Given the description of an element on the screen output the (x, y) to click on. 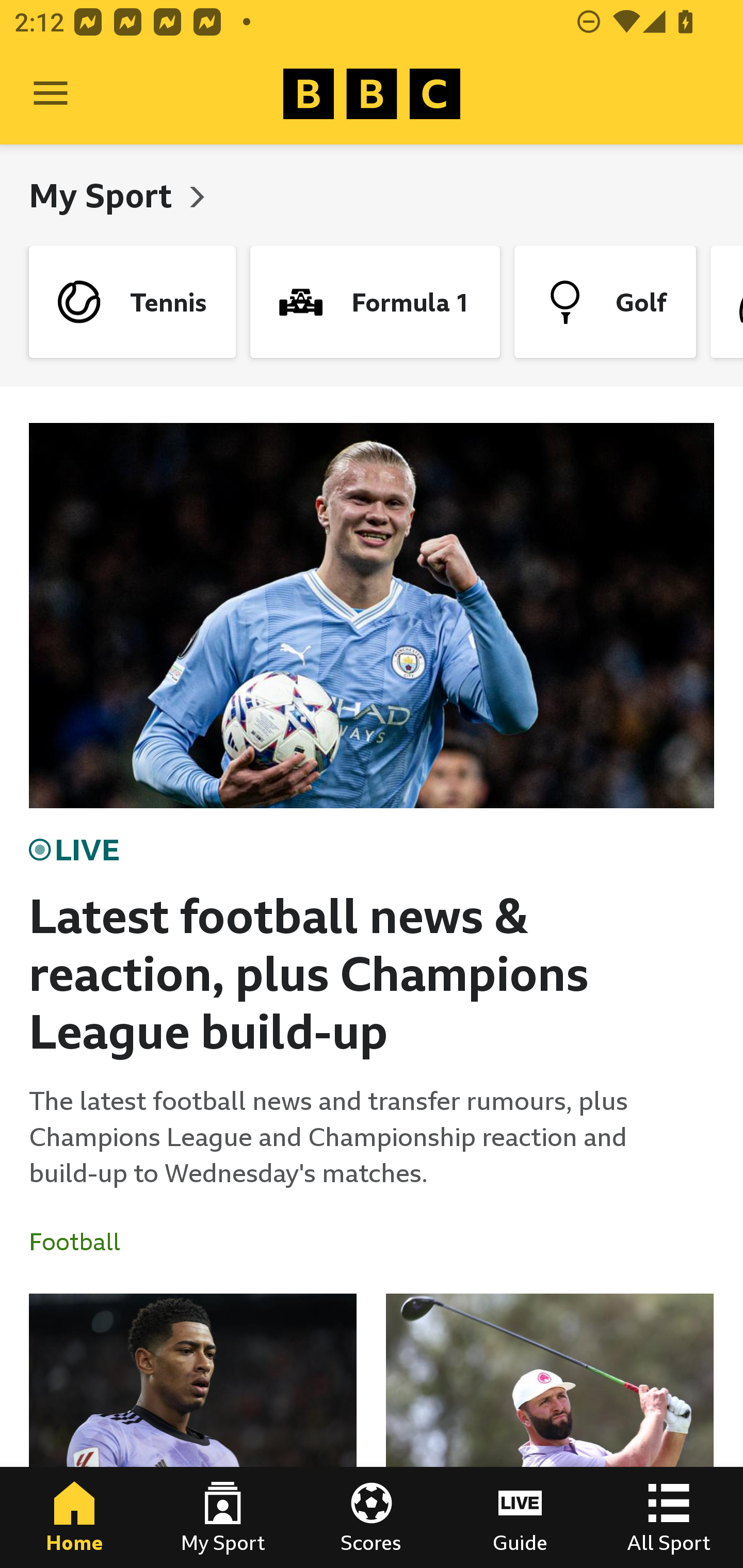
Open Menu (50, 93)
My Sport (104, 195)
Football In the section Football (81, 1241)
Real midfielder Bellingham banned for two games (192, 1430)
My Sport (222, 1517)
Scores (371, 1517)
Guide (519, 1517)
All Sport (668, 1517)
